Given the description of an element on the screen output the (x, y) to click on. 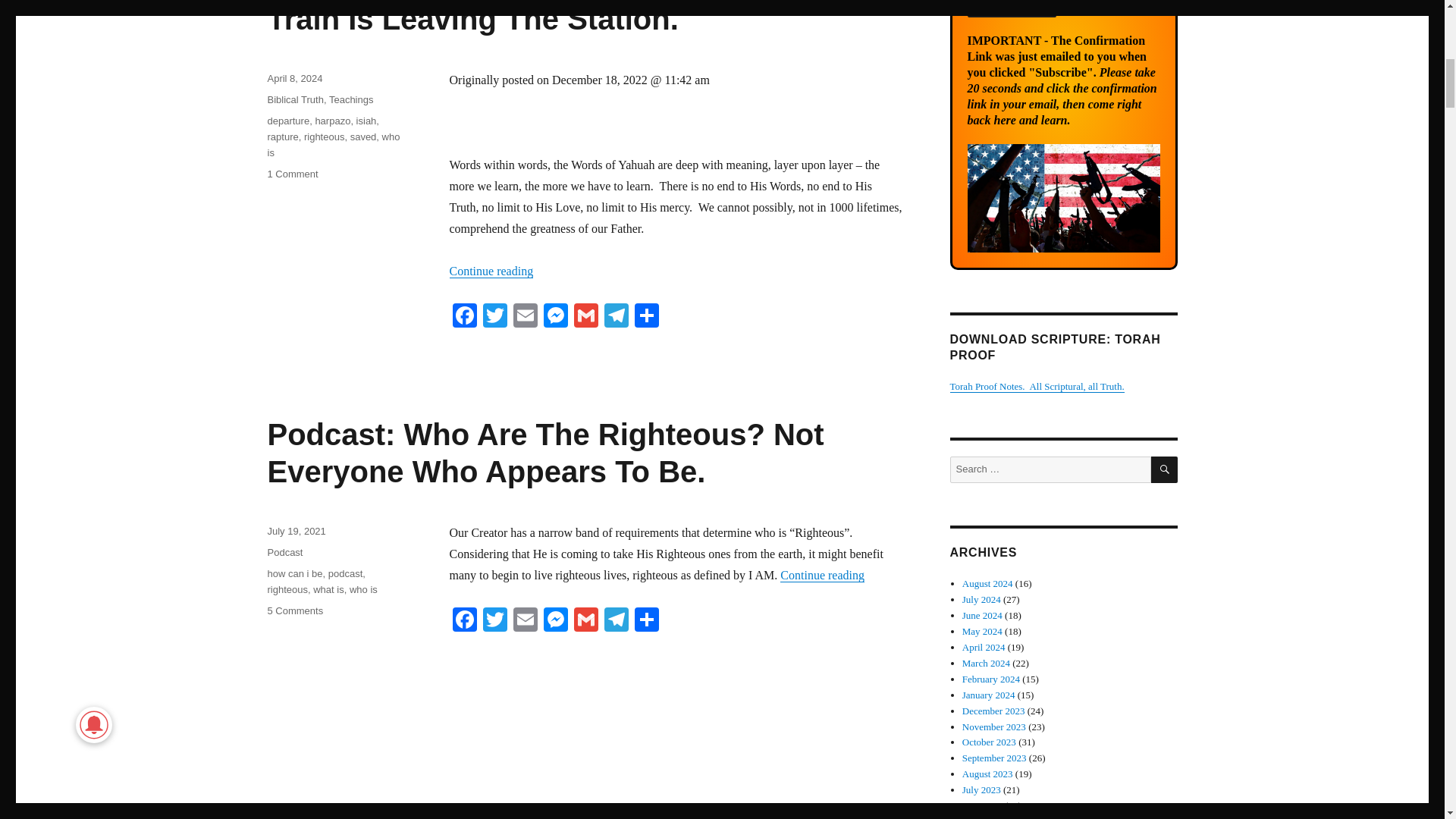
Facebook (463, 317)
Telegram (614, 317)
Email (524, 317)
Subscribe! (1012, 8)
Email (524, 621)
Twitter (494, 621)
Gmail (584, 317)
Messenger (555, 317)
Facebook (463, 621)
Twitter (494, 317)
